Given the description of an element on the screen output the (x, y) to click on. 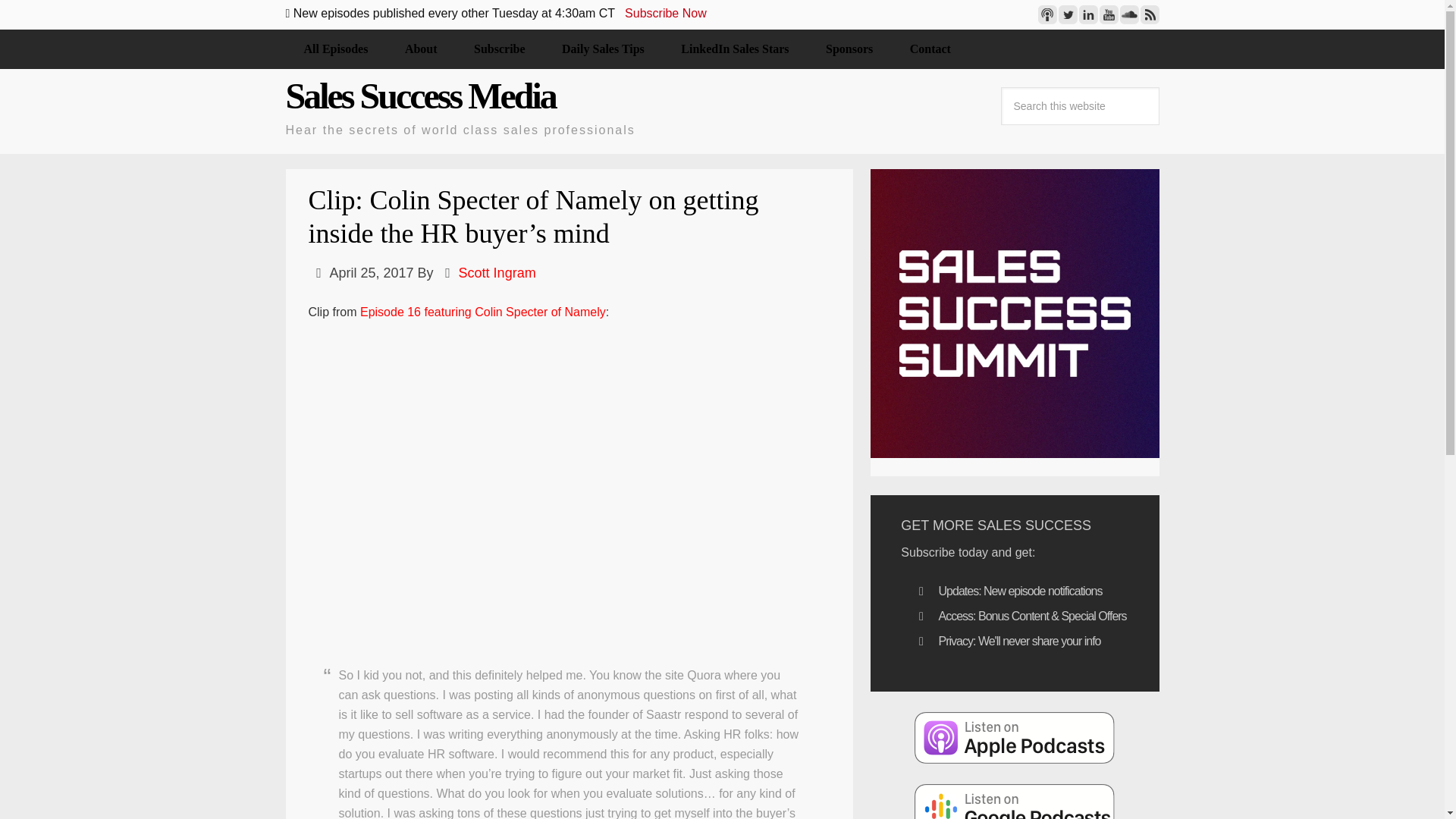
Contact (930, 48)
Episode 16 featuring Colin Specter of Namely (482, 311)
LinkedIn Sales Stars (734, 48)
Scott Ingram (496, 272)
Subscribe (499, 48)
Daily Sales Tips (602, 48)
Subscribe Now (665, 12)
Sponsors (849, 48)
Sales Success Stories on Google Podcasts (1014, 800)
About (421, 48)
Sales Success Media (419, 96)
Sales Success Stories on Apple Podcasts (1014, 736)
All Episodes (335, 48)
